Given the description of an element on the screen output the (x, y) to click on. 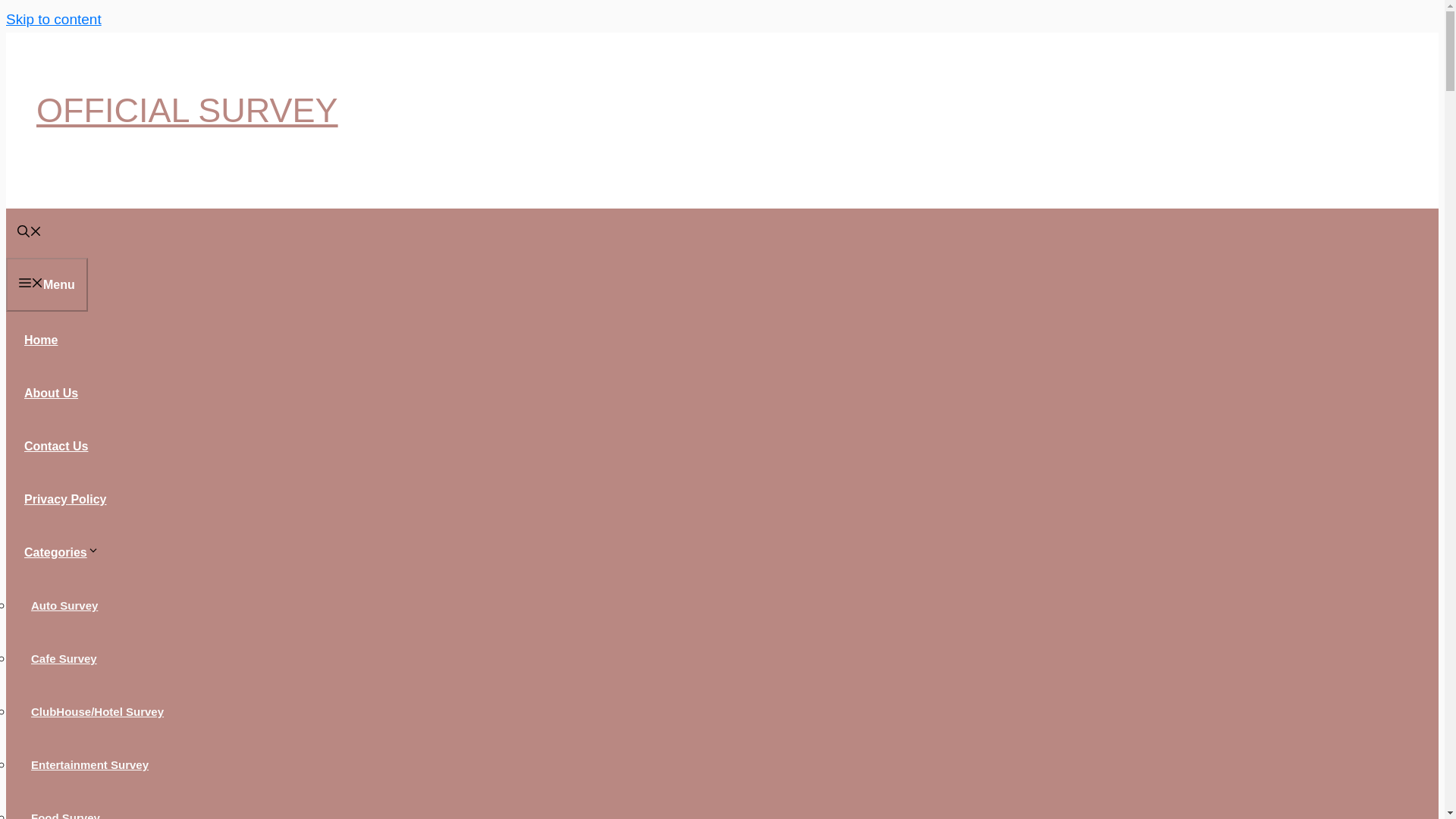
Cafe Survey (63, 658)
Food Survey (66, 811)
Skip to content (53, 19)
Auto Survey (64, 605)
Home (40, 339)
Categories (67, 552)
Menu (46, 284)
OFFICIAL SURVEY (186, 109)
About Us (50, 392)
Skip to content (53, 19)
